Given the description of an element on the screen output the (x, y) to click on. 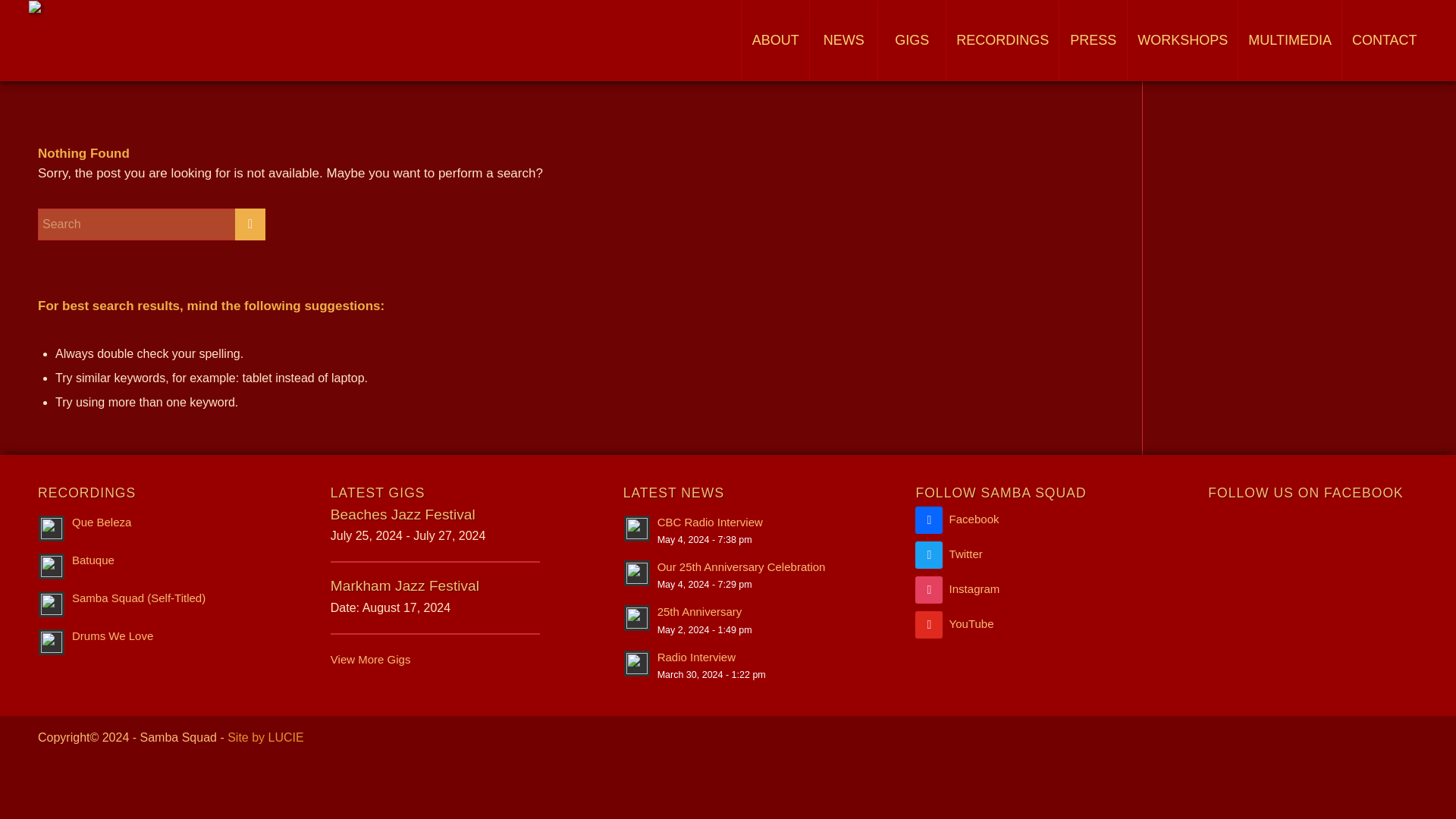
Read: Batuque (93, 559)
Our 25th Anniversary Celebration (741, 566)
Read: 25th Anniversary (636, 617)
Click to start search (249, 224)
Read: Drums We Love (111, 635)
CBC Radio Interview (710, 521)
Read: CBC Radio Interview (636, 528)
Read: Our 25th Anniversary Celebration (741, 566)
Radio Interview (696, 656)
Read: Que Beleza (101, 521)
WORKSHOPS (1181, 40)
Read: CBC Radio Interview (710, 521)
Batuque (93, 559)
Drums We Love (111, 635)
MULTIMEDIA (1288, 40)
